Given the description of an element on the screen output the (x, y) to click on. 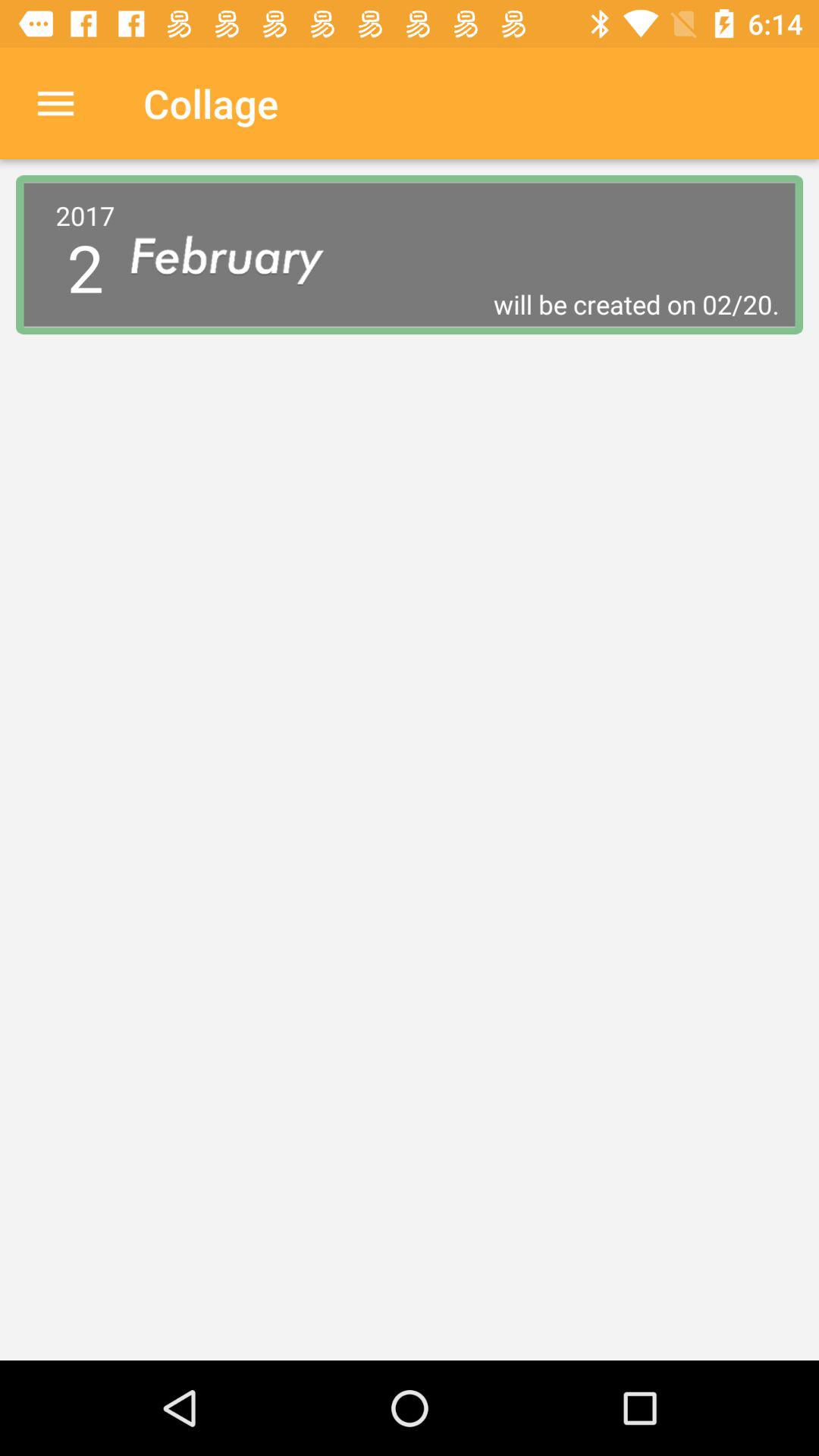
turn off item below collage item (239, 254)
